Given the description of an element on the screen output the (x, y) to click on. 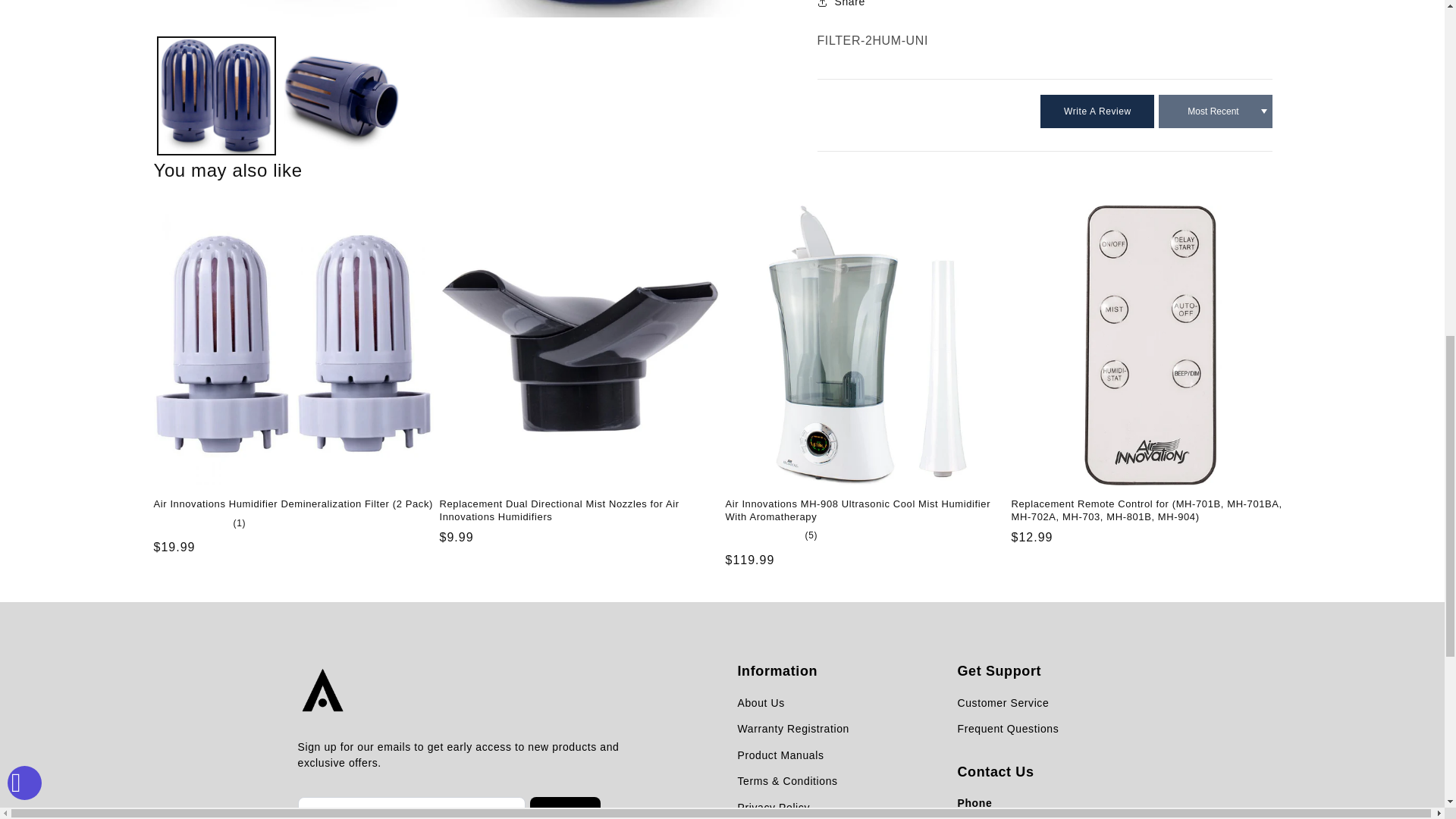
Product Manuals (796, 755)
Customer Service (1007, 703)
Privacy Policy (796, 807)
Warranty Registration (796, 729)
Frequent Questions (1007, 729)
About Us (796, 703)
